Given the description of an element on the screen output the (x, y) to click on. 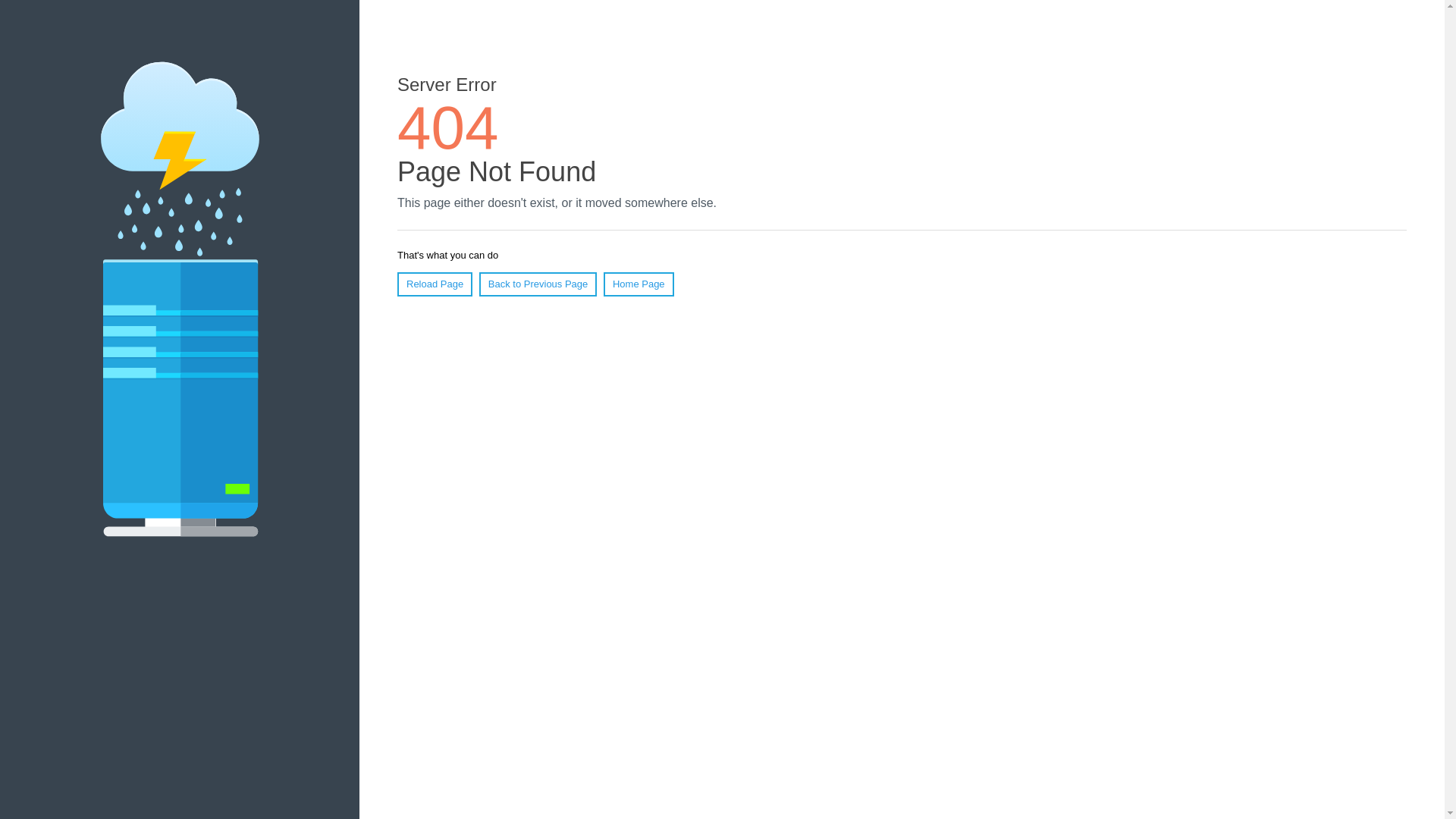
Reload Page Element type: text (434, 284)
Back to Previous Page Element type: text (538, 284)
Home Page Element type: text (638, 284)
